Given the description of an element on the screen output the (x, y) to click on. 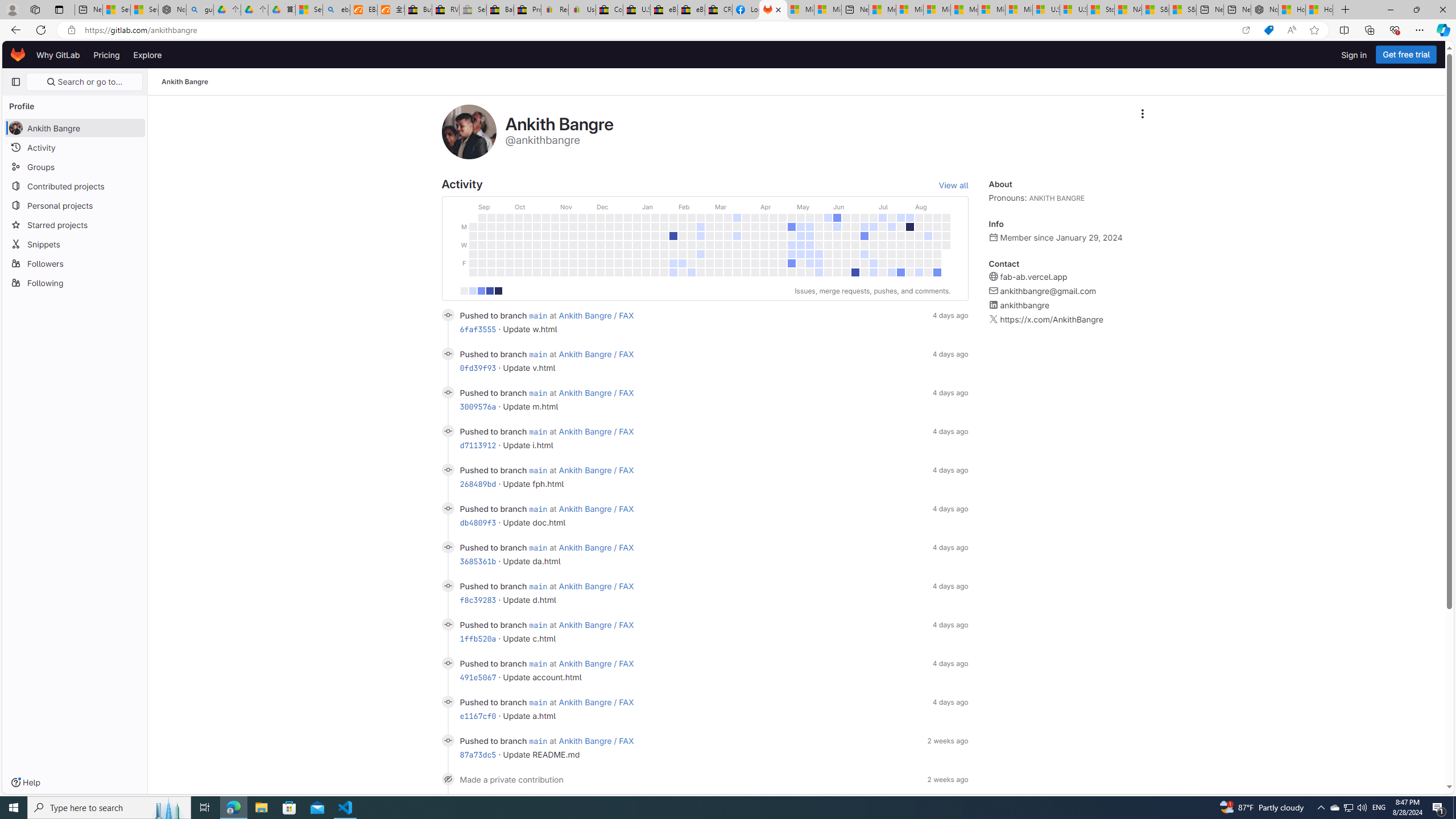
User Privacy Notice | eBay (581, 9)
1ffb520a (478, 638)
1-9 contributions (472, 290)
